Given the description of an element on the screen output the (x, y) to click on. 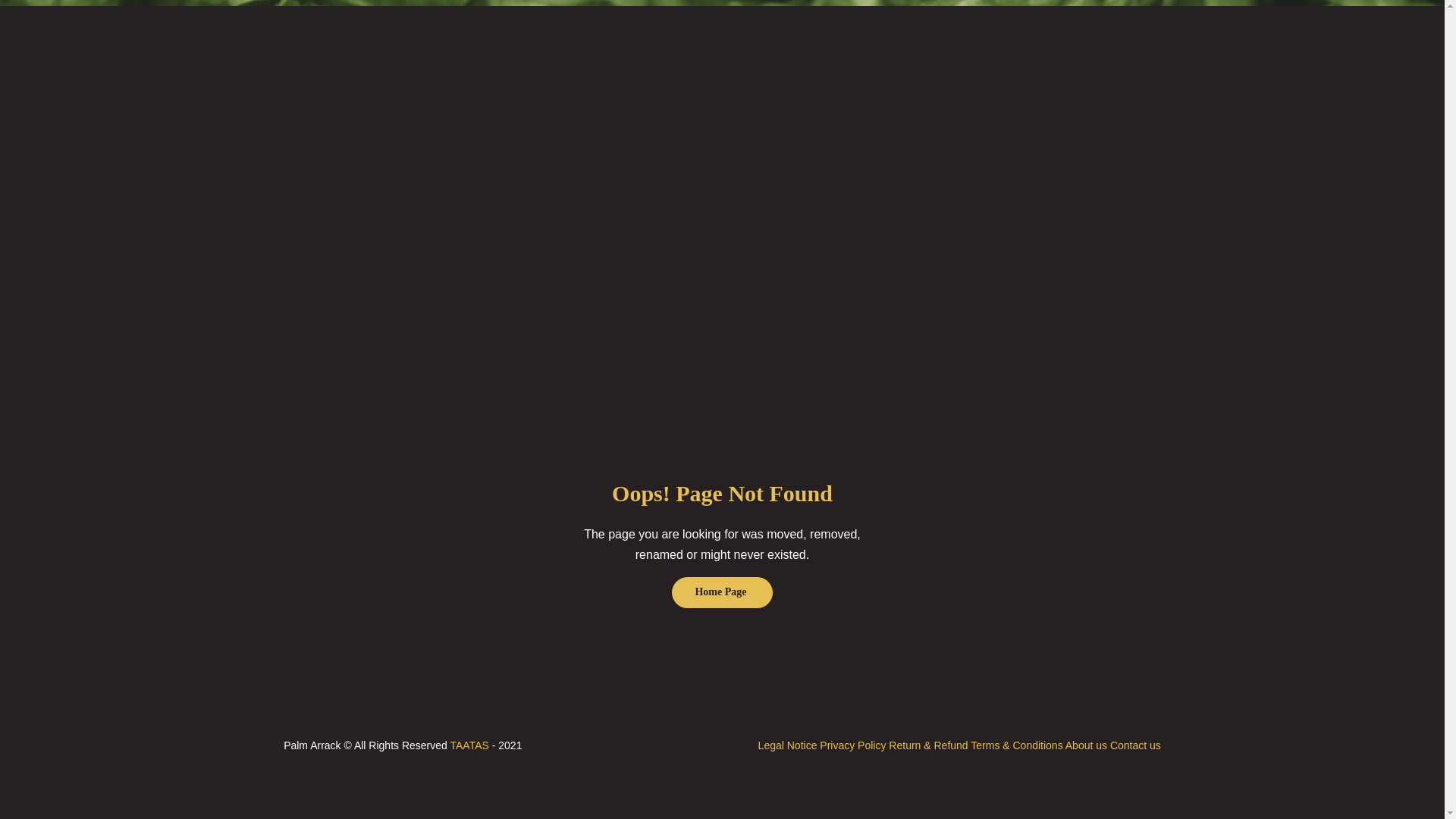
Contact us (1134, 745)
Privacy Policy (853, 745)
About us (1085, 745)
Home Page (721, 592)
TAATAS (468, 745)
Legal Notice (789, 745)
